Given the description of an element on the screen output the (x, y) to click on. 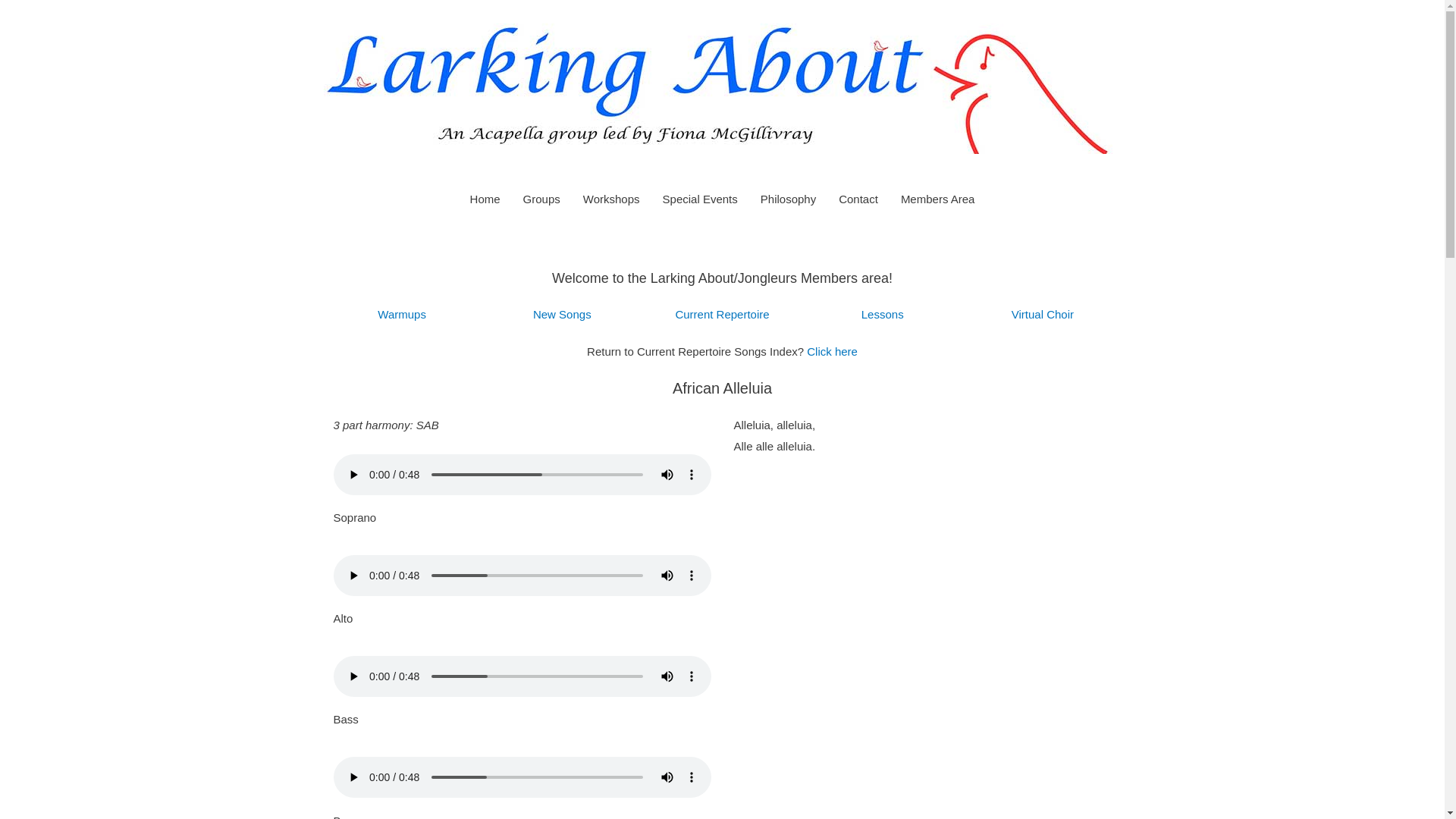
Workshops Element type: text (611, 199)
Virtual Choir Element type: text (1042, 313)
Warmups Element type: text (401, 313)
Current Repertoire Element type: text (721, 313)
Click here Element type: text (831, 351)
Special Events Element type: text (700, 199)
Philosophy Element type: text (788, 199)
New Songs Element type: text (562, 313)
Home Element type: text (484, 199)
Lessons Element type: text (882, 313)
Members Area Element type: text (937, 199)
Groups Element type: text (541, 199)
Contact Element type: text (858, 199)
